Given the description of an element on the screen output the (x, y) to click on. 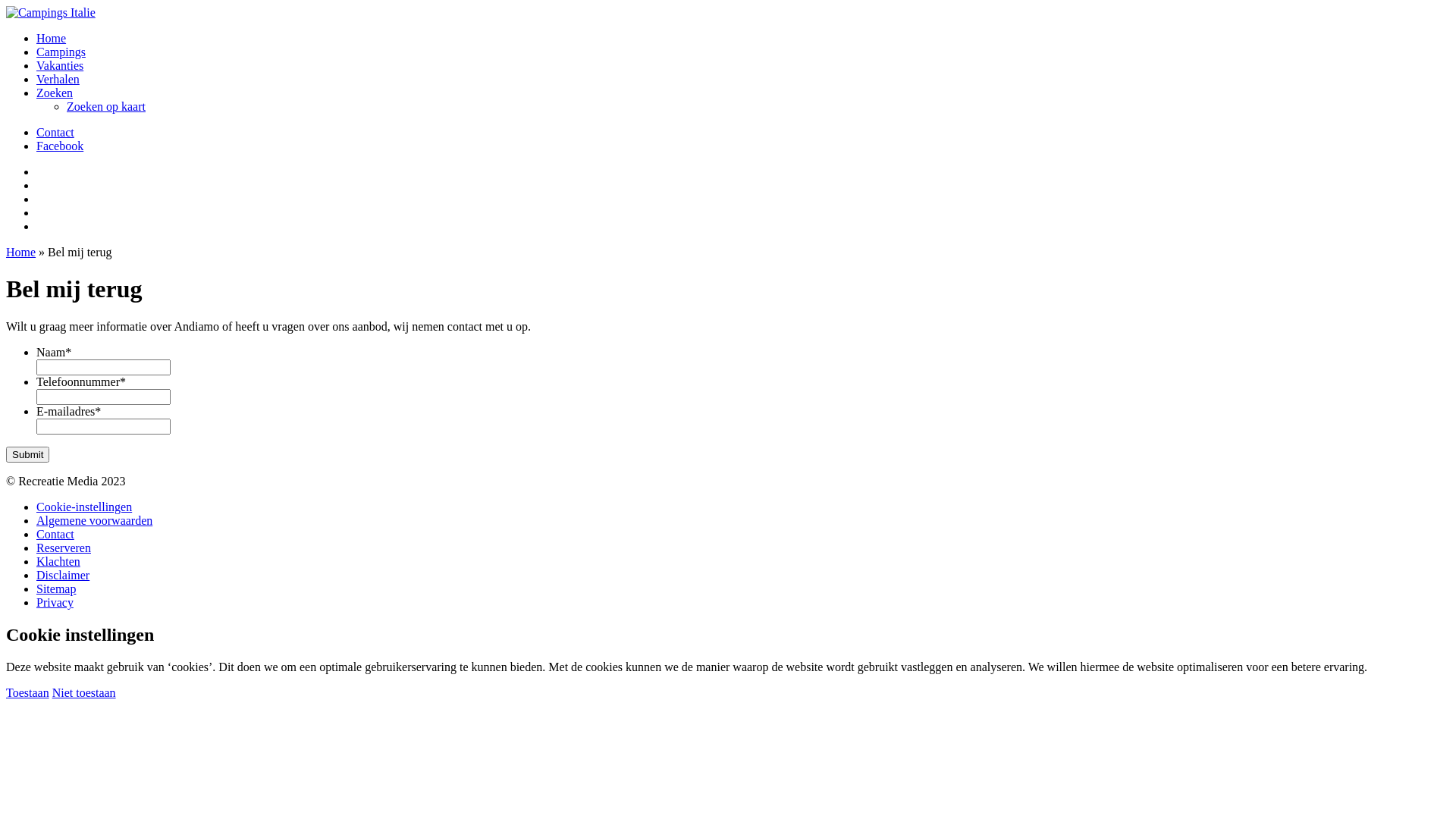
Zoeken op kaart Element type: text (105, 106)
Niet toestaan Element type: text (84, 692)
Algemene voorwaarden Element type: text (94, 520)
Disclaimer Element type: text (62, 574)
Contact Element type: text (55, 533)
Cookie-instellingen Element type: text (83, 506)
Facebook Element type: text (59, 145)
Reserveren Element type: text (63, 547)
Contact Element type: text (55, 131)
Vakanties Element type: text (59, 65)
Submit Element type: text (27, 454)
Privacy Element type: text (54, 602)
Home Element type: text (50, 37)
Campings Element type: text (60, 51)
Zoeken Element type: text (54, 92)
Sitemap Element type: text (55, 588)
Toestaan Element type: text (27, 692)
Klachten Element type: text (58, 561)
Home Element type: text (20, 251)
Verhalen Element type: text (57, 78)
